Given the description of an element on the screen output the (x, y) to click on. 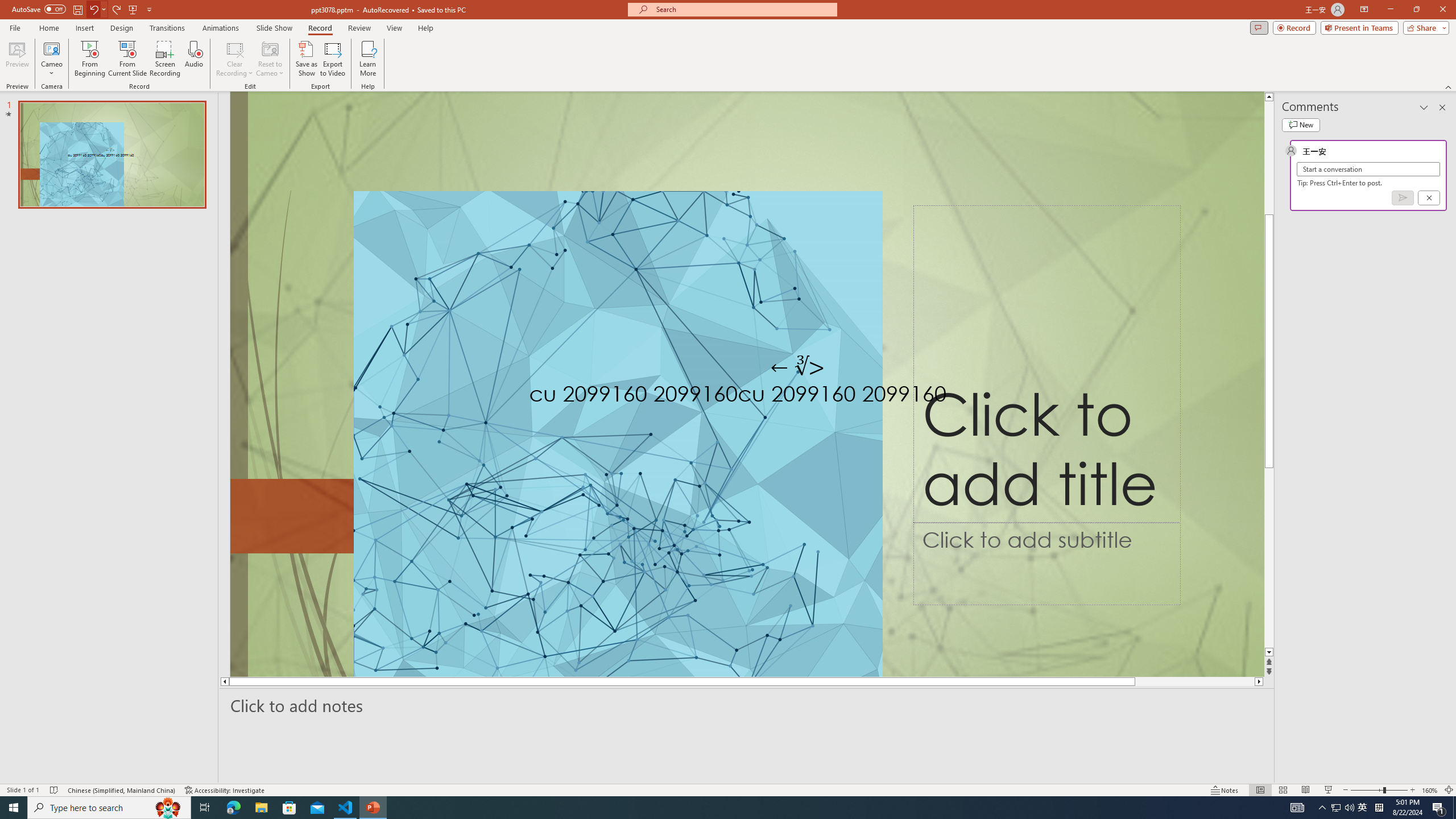
From Beginning... (89, 58)
Screen Recording (165, 58)
TextBox 7 (797, 367)
Preview (17, 58)
Export to Video (332, 58)
Title TextBox (1046, 364)
